Given the description of an element on the screen output the (x, y) to click on. 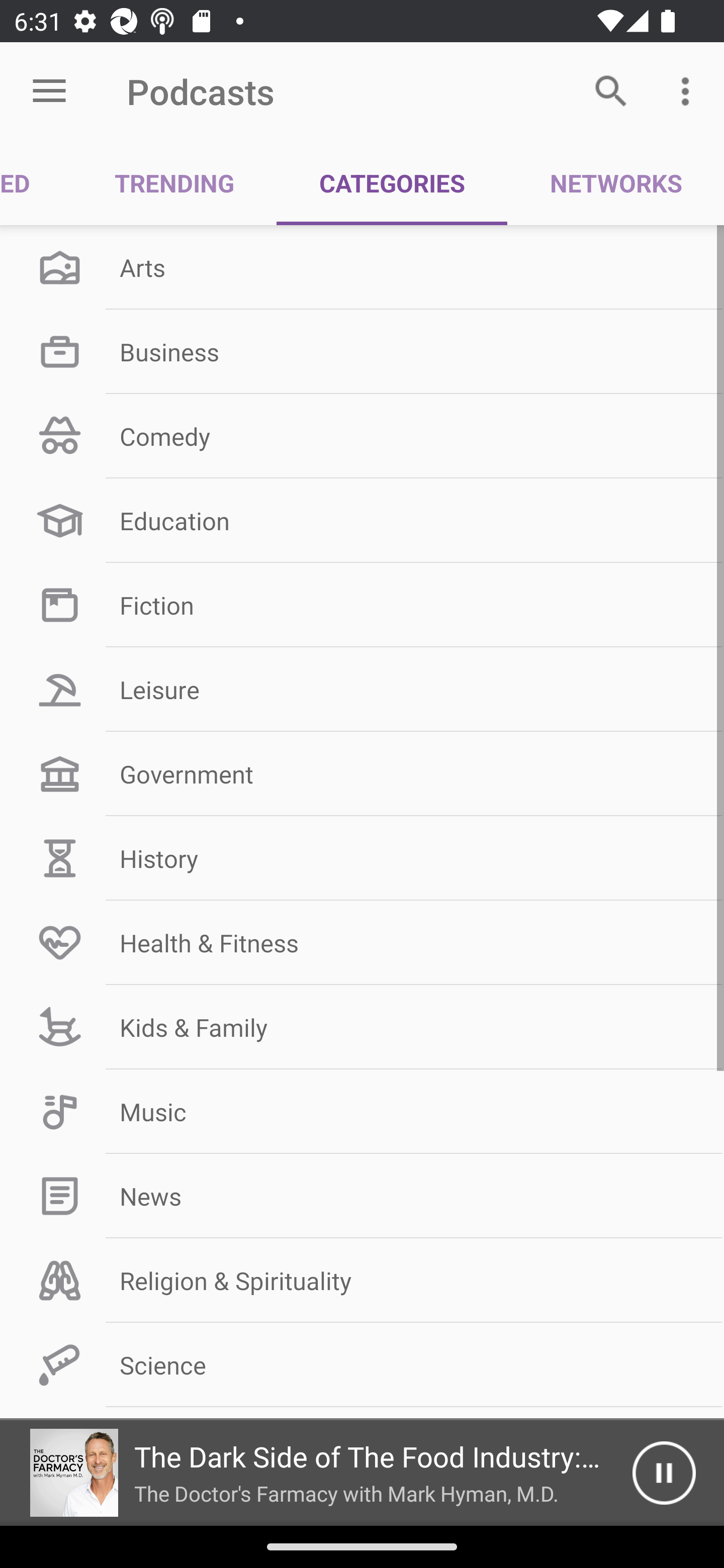
Open menu (49, 91)
Search (611, 90)
More options (688, 90)
TRENDING (174, 183)
CATEGORIES (391, 183)
NETWORKS (615, 183)
Arts (362, 266)
Business (362, 350)
Comedy (362, 435)
Education (362, 520)
Fiction (362, 604)
Leisure (362, 689)
Government (362, 774)
History (362, 858)
Health & Fitness (362, 942)
Kids & Family (362, 1026)
Music (362, 1111)
News (362, 1196)
Religion & Spirituality (362, 1280)
Science (362, 1364)
Pause (663, 1472)
